Given the description of an element on the screen output the (x, y) to click on. 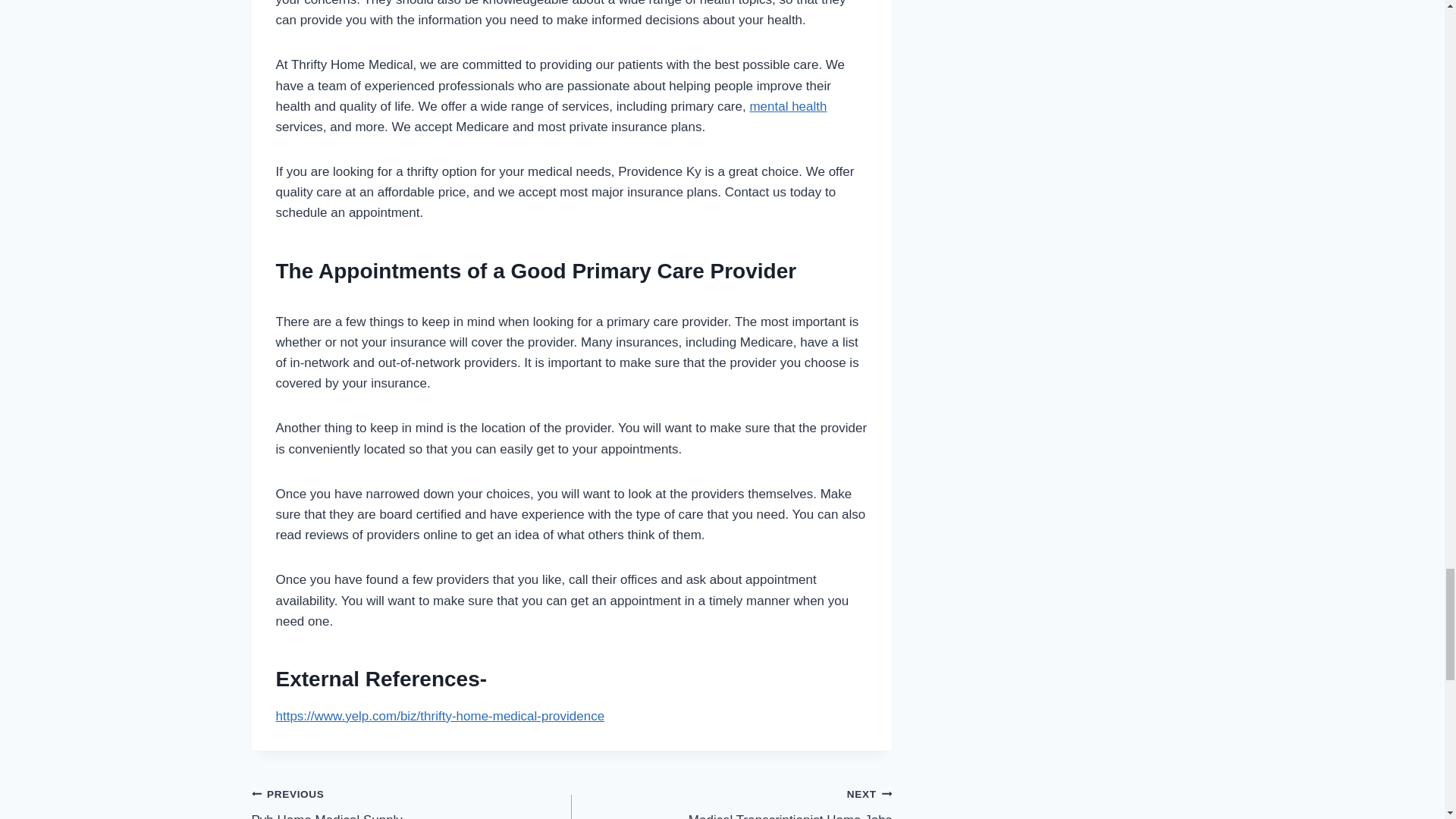
mental health (411, 800)
